Given the description of an element on the screen output the (x, y) to click on. 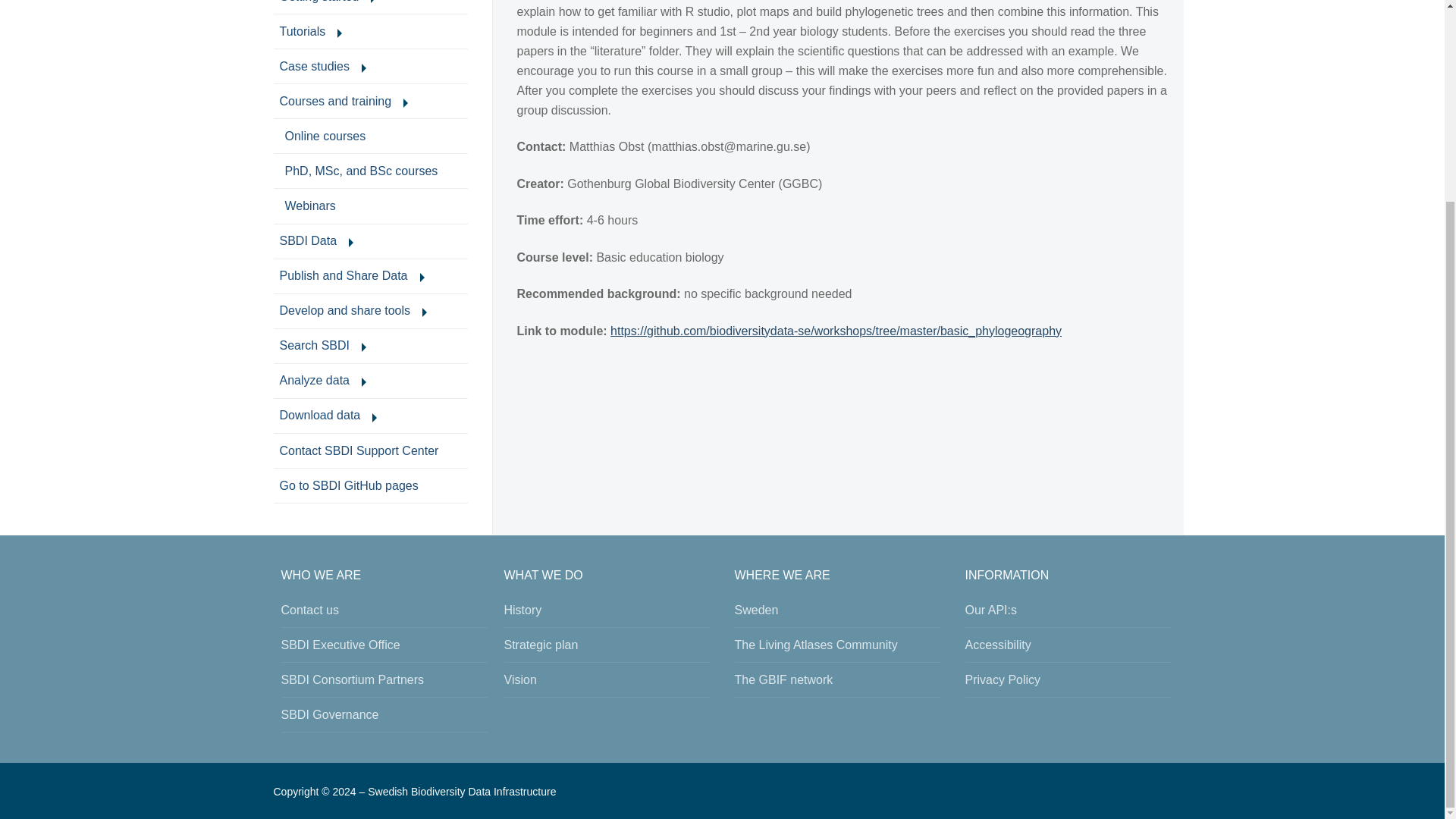
Webinars (370, 206)
Online courses (370, 101)
PhD, MSc, and BSc courses (370, 241)
